Given the description of an element on the screen output the (x, y) to click on. 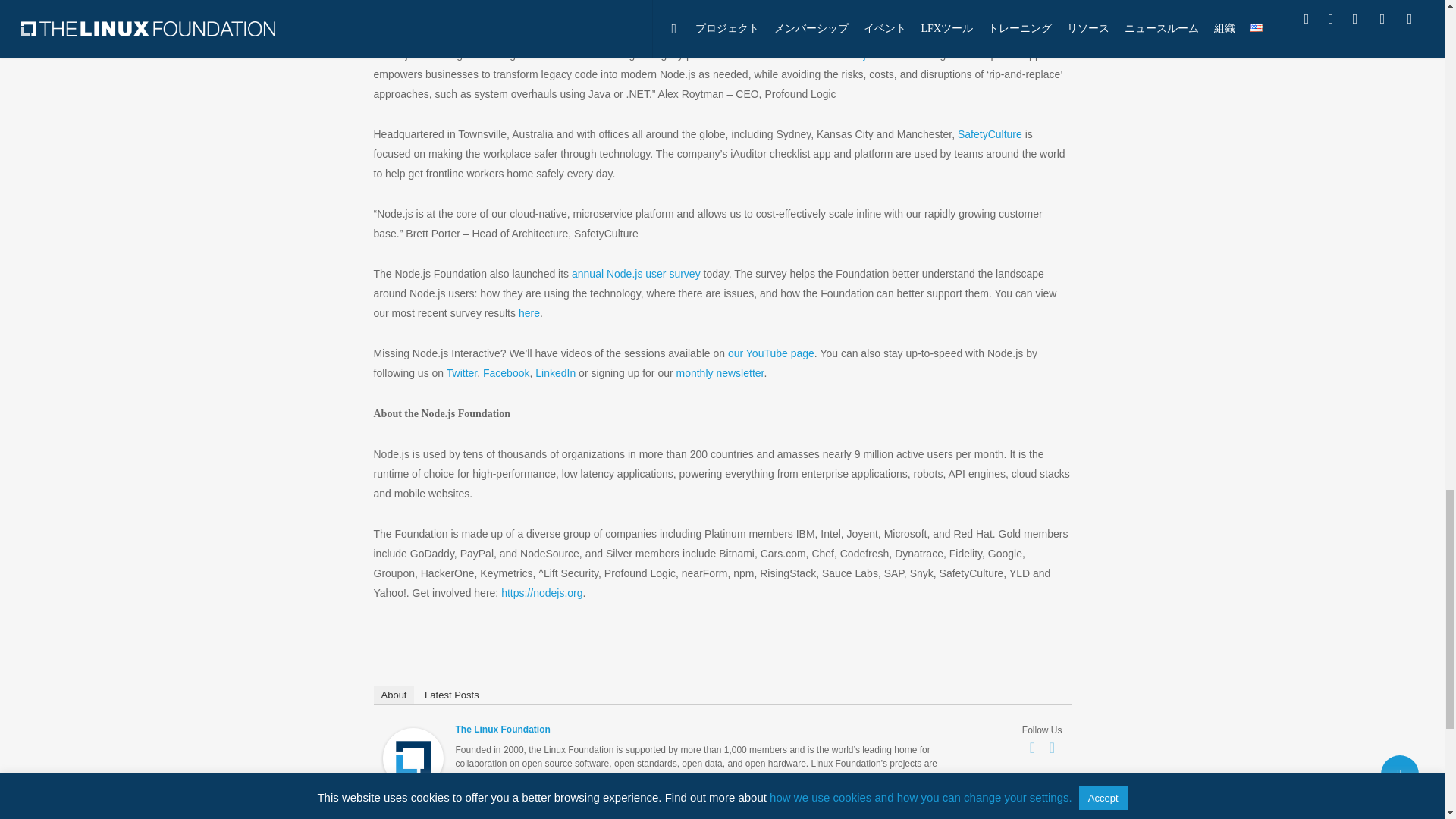
The Linux Foundation (411, 796)
Twitter (1052, 747)
Facebook (1032, 747)
